Given the description of an element on the screen output the (x, y) to click on. 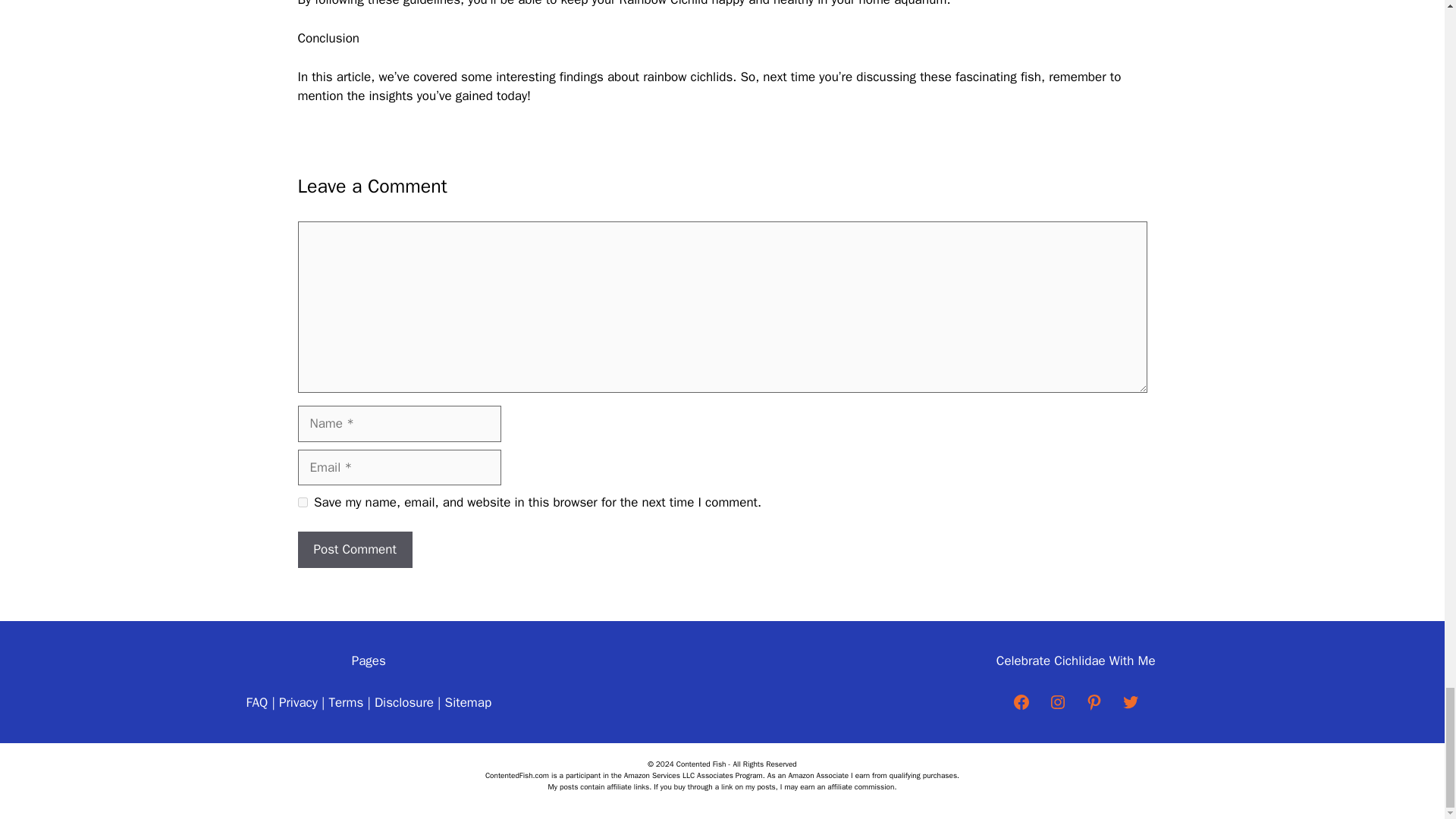
Facebook (1020, 701)
Sitemap (468, 702)
Twitter (1130, 701)
Pinterest (1093, 701)
Privacy (298, 702)
Instagram (1057, 701)
FAQ  (258, 702)
yes (302, 501)
Post Comment (354, 549)
Post Comment (354, 549)
